Given the description of an element on the screen output the (x, y) to click on. 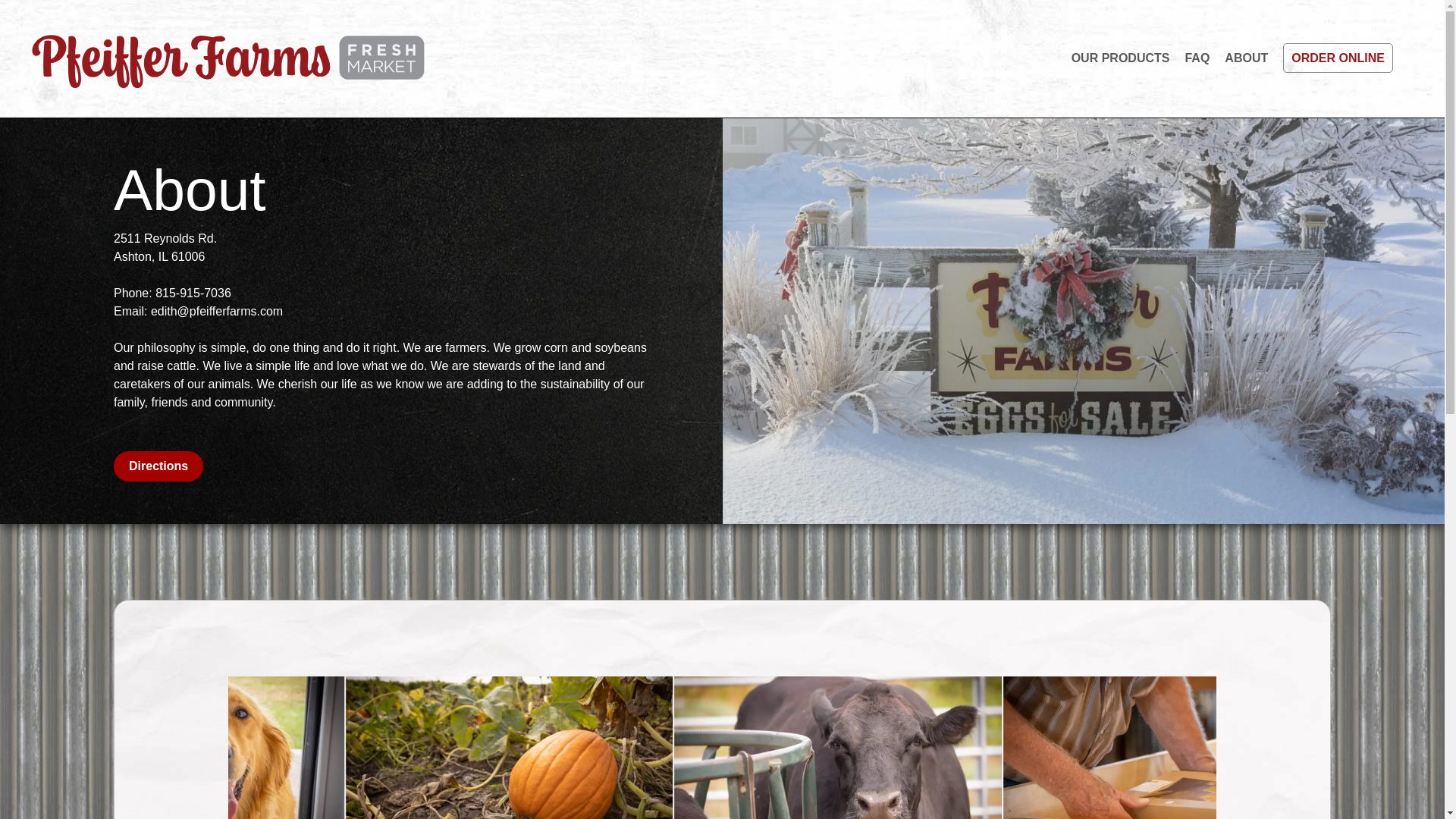
ABOUT (1246, 57)
FAQ (1196, 57)
OUR PRODUCTS (1120, 57)
Directions (158, 466)
ORDER ONLINE (1337, 57)
